Given the description of an element on the screen output the (x, y) to click on. 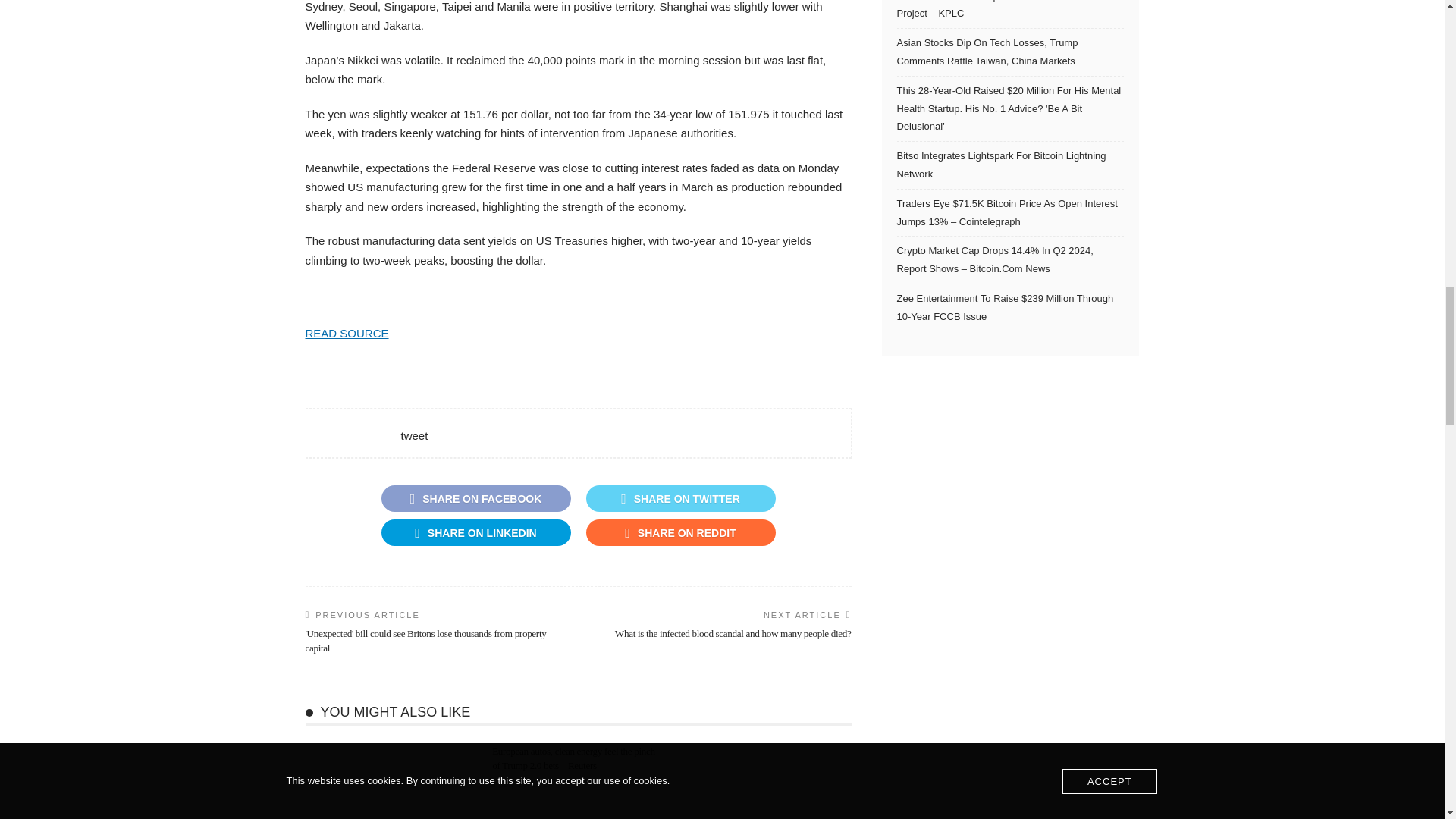
What is the infected blood scandal and how many people died? (732, 633)
